Given the description of an element on the screen output the (x, y) to click on. 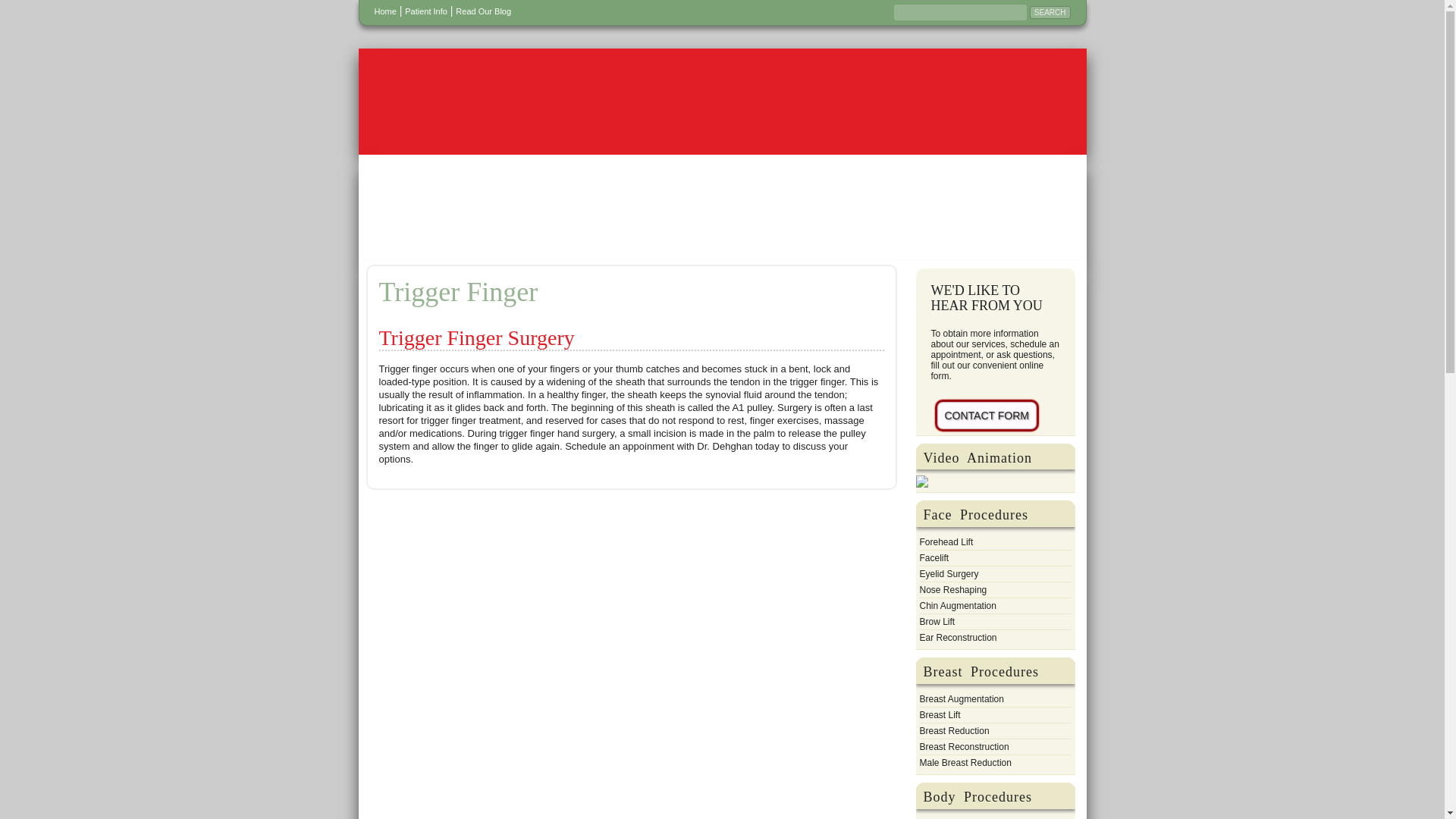
Liposuction (941, 817)
Chin Augmentation (956, 605)
Search (1049, 11)
Male Breast Reduction (964, 762)
Home (385, 10)
Breast Lift (938, 714)
CONTACT FORM (986, 415)
Read Our Blog (483, 10)
Breast Reconstruction (963, 746)
Forehead Lift (945, 541)
Breast Augmentation (960, 698)
Eyelid Surgery (948, 573)
Nose Reshaping (952, 589)
Search (1049, 11)
Facelift (933, 557)
